Given the description of an element on the screen output the (x, y) to click on. 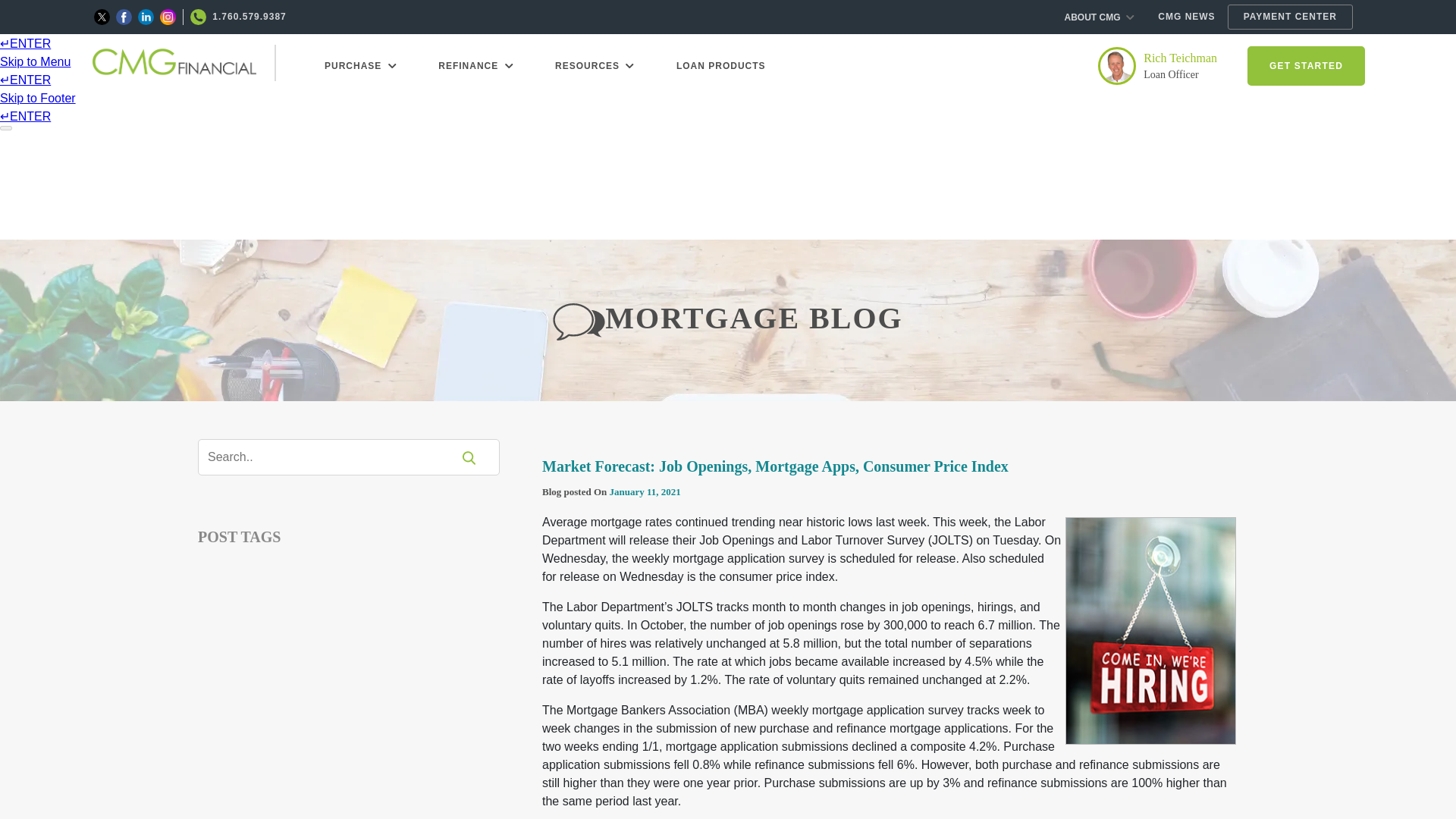
Search (334, 456)
CMG NEWS (1185, 17)
1.760.579.9387 (238, 17)
PAYMENT CENTER (1289, 16)
